Given the description of an element on the screen output the (x, y) to click on. 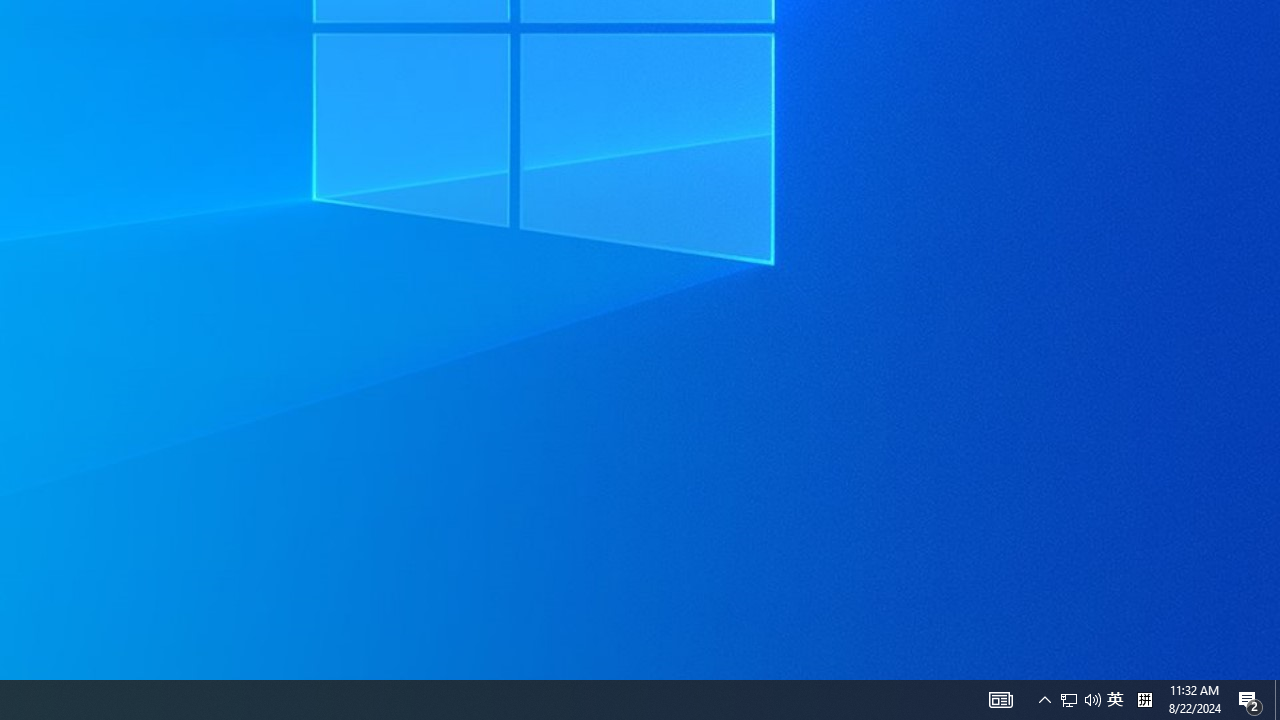
AutomationID: 4105 (1000, 699)
Show desktop (1277, 699)
Tray Input Indicator - Chinese (Simplified, China) (1115, 699)
Q2790: 100% (1144, 699)
User Promoted Notification Area (1092, 699)
Action Center, 2 new notifications (1080, 699)
Notification Chevron (1250, 699)
